Given the description of an element on the screen output the (x, y) to click on. 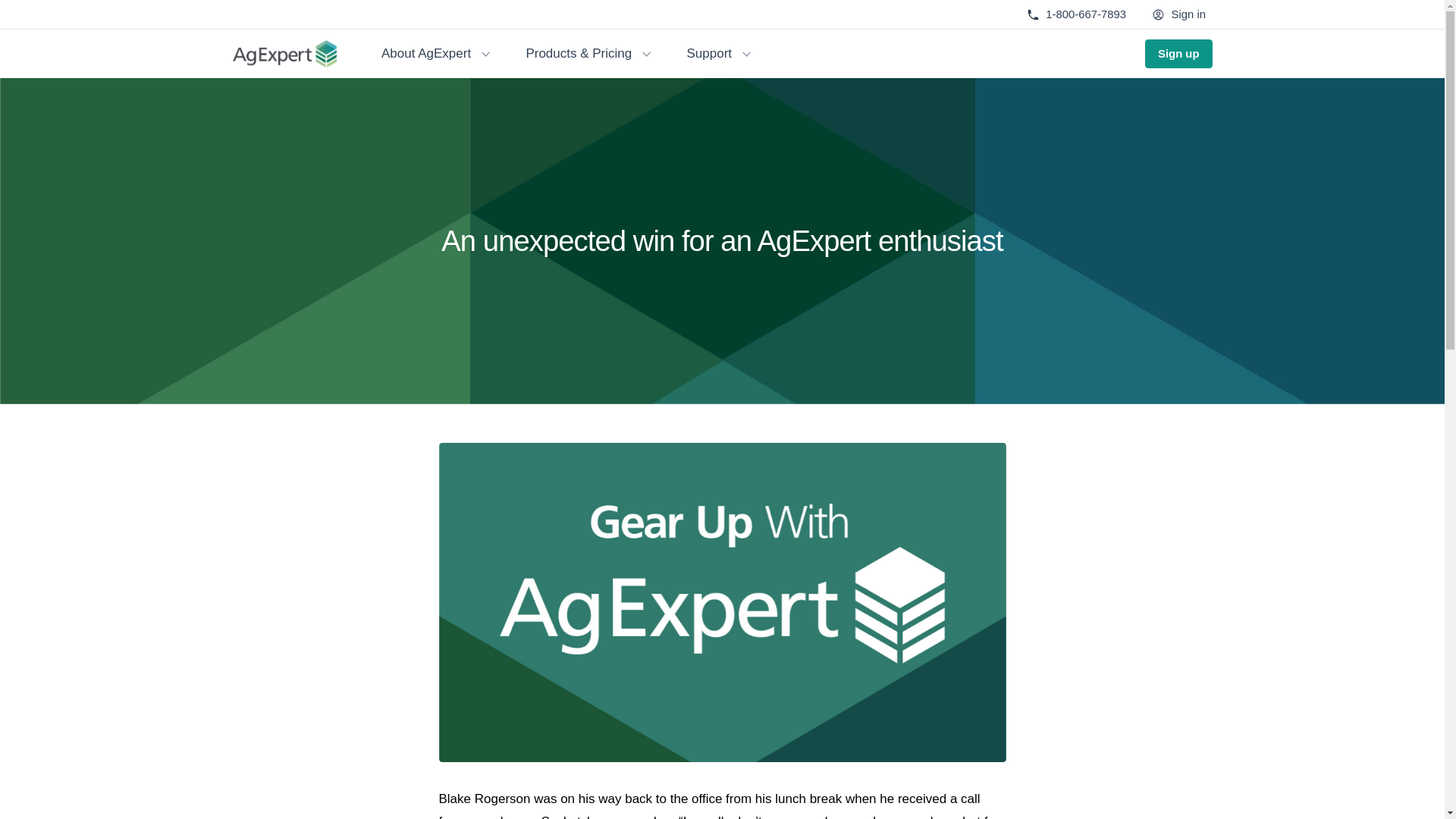
Sign up Element type: text (1178, 53)
Sign in Element type: text (1178, 14)
Products & Pricing Element type: text (590, 53)
1-800-667-7893 Element type: text (1075, 14)
About AgExpert Element type: text (436, 53)
Support Element type: text (720, 53)
